Given the description of an element on the screen output the (x, y) to click on. 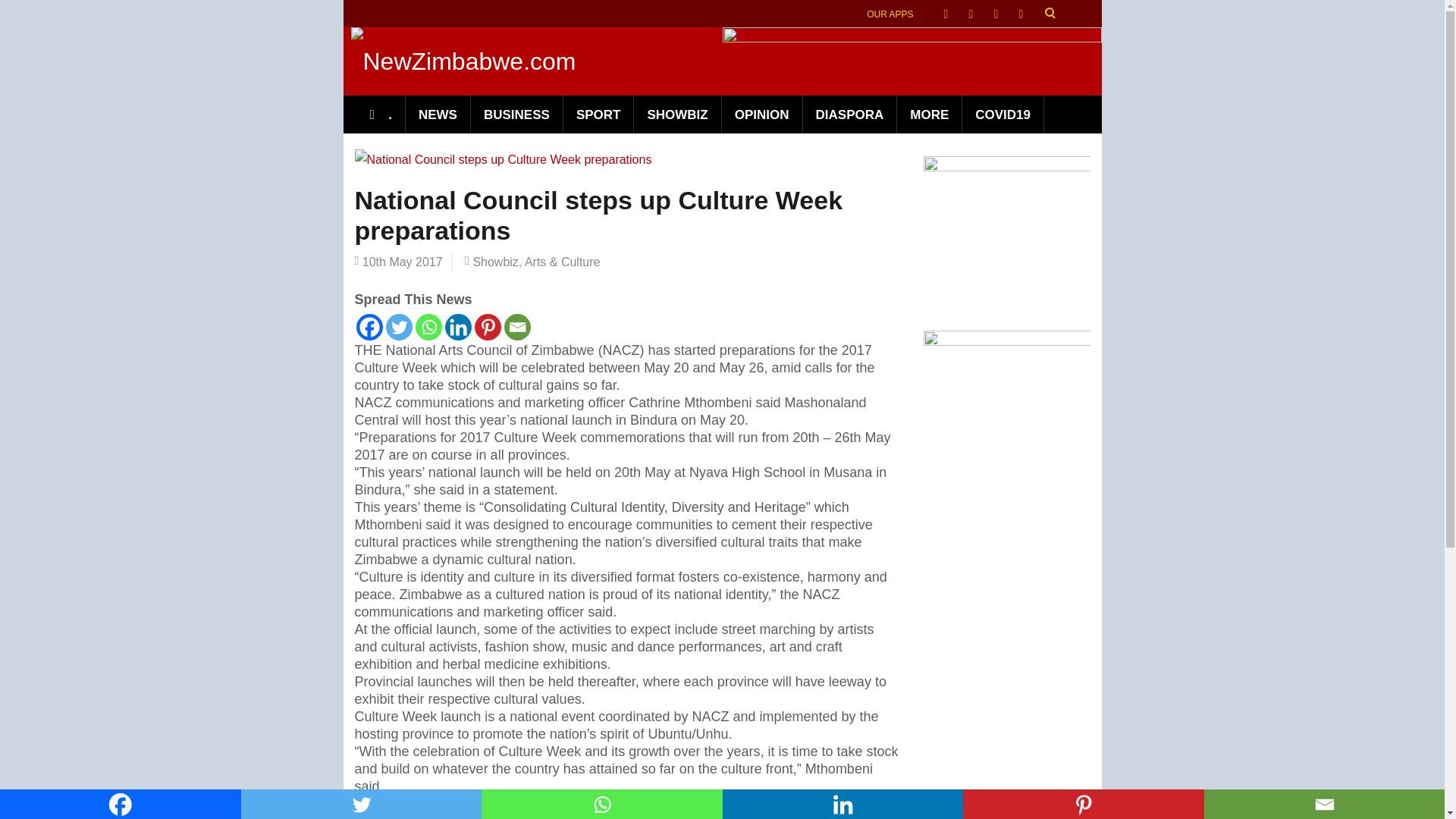
Pinterest (1083, 804)
Whatsapp (601, 804)
Email (516, 326)
DIASPORA (850, 114)
SHOWBIZ (676, 114)
Pinterest (487, 326)
Facebook (120, 804)
Linkedin (842, 804)
 . (380, 114)
SPORT (598, 114)
